Given the description of an element on the screen output the (x, y) to click on. 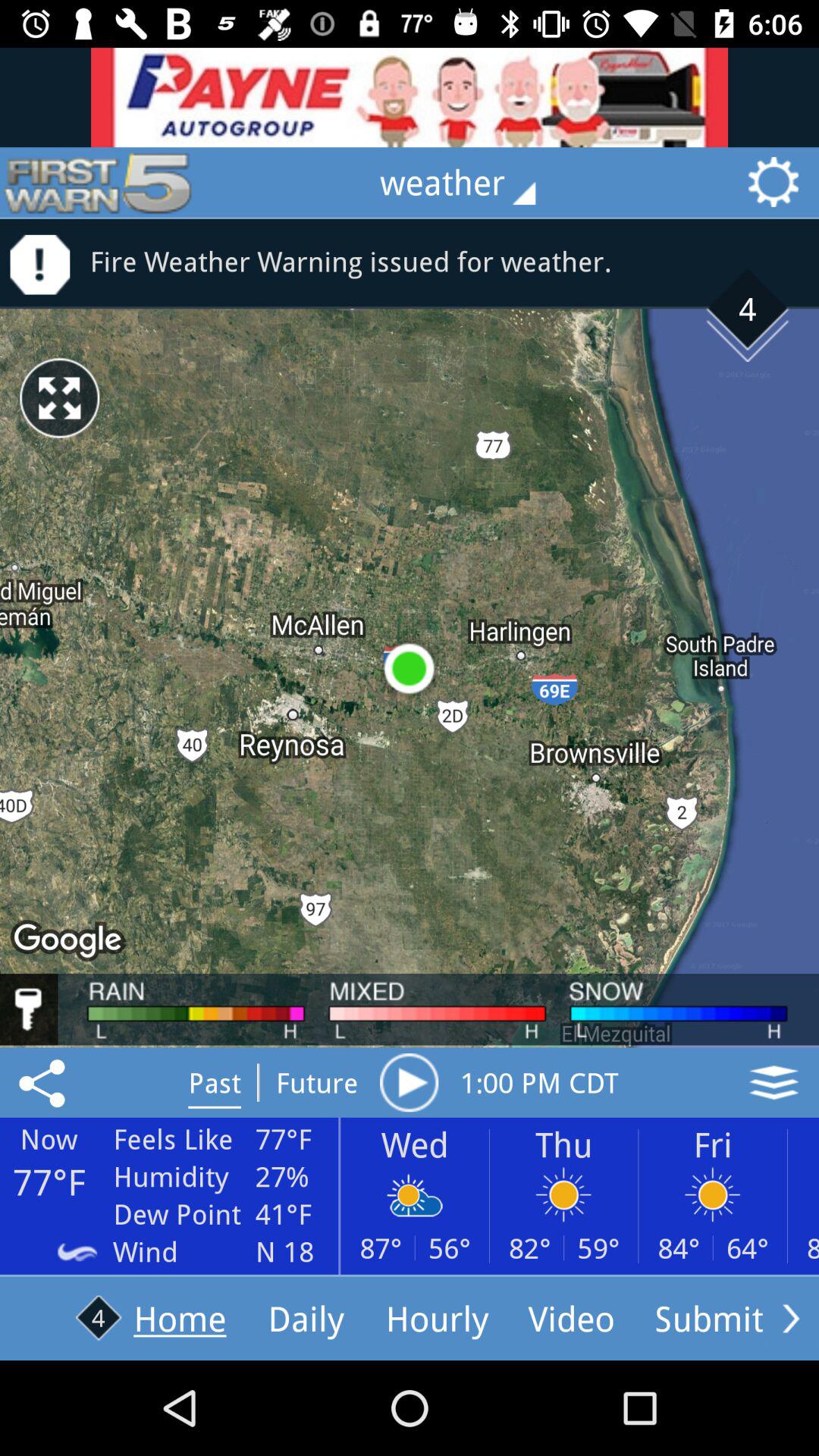
play video (409, 1082)
